Given the description of an element on the screen output the (x, y) to click on. 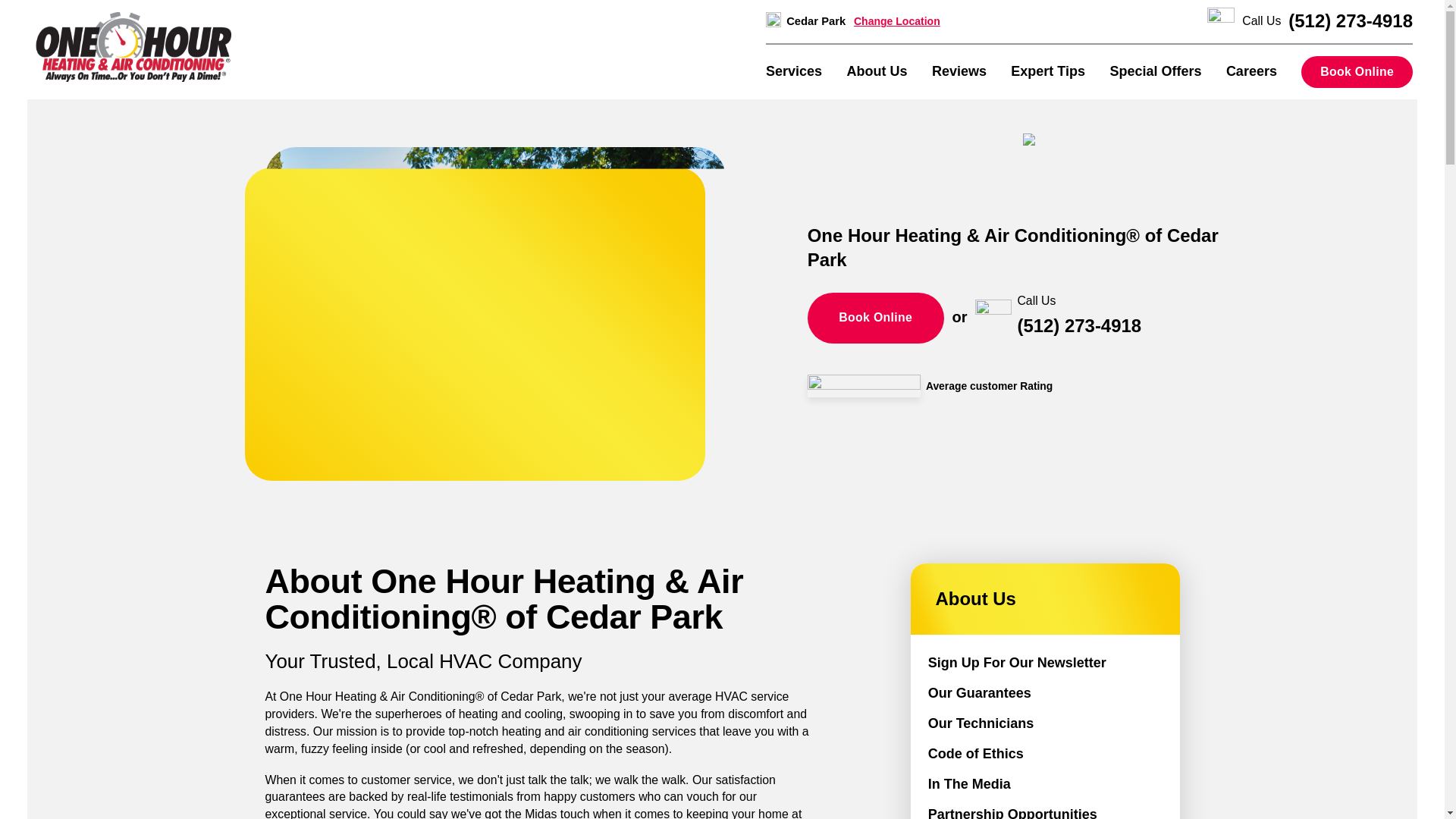
Services (793, 71)
About Us (876, 71)
Change Location (896, 21)
